Given the description of an element on the screen output the (x, y) to click on. 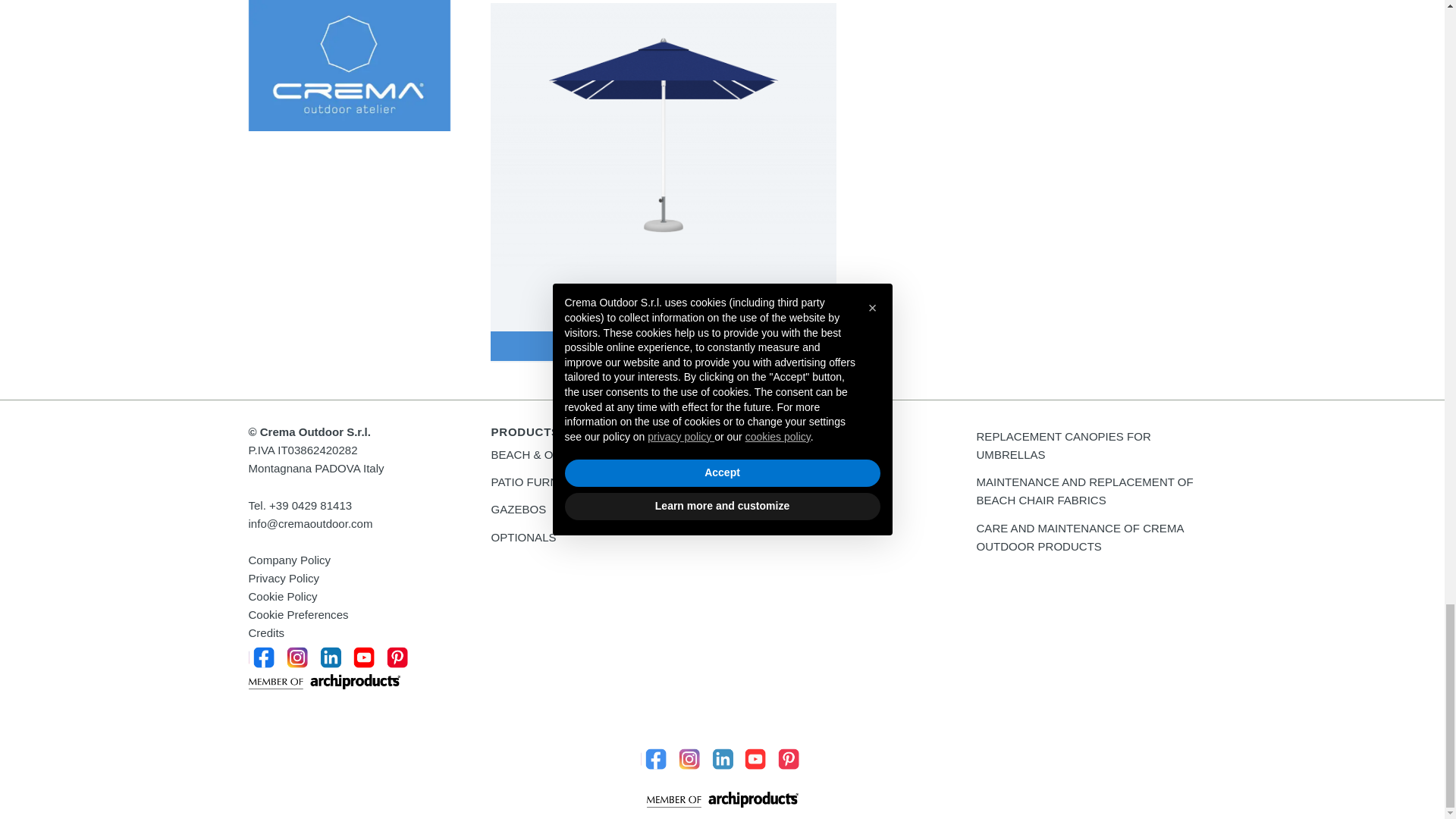
Patio umbrellas 12 (662, 135)
Privacy Policy  (284, 577)
Privacy Policy  (289, 559)
